Given the description of an element on the screen output the (x, y) to click on. 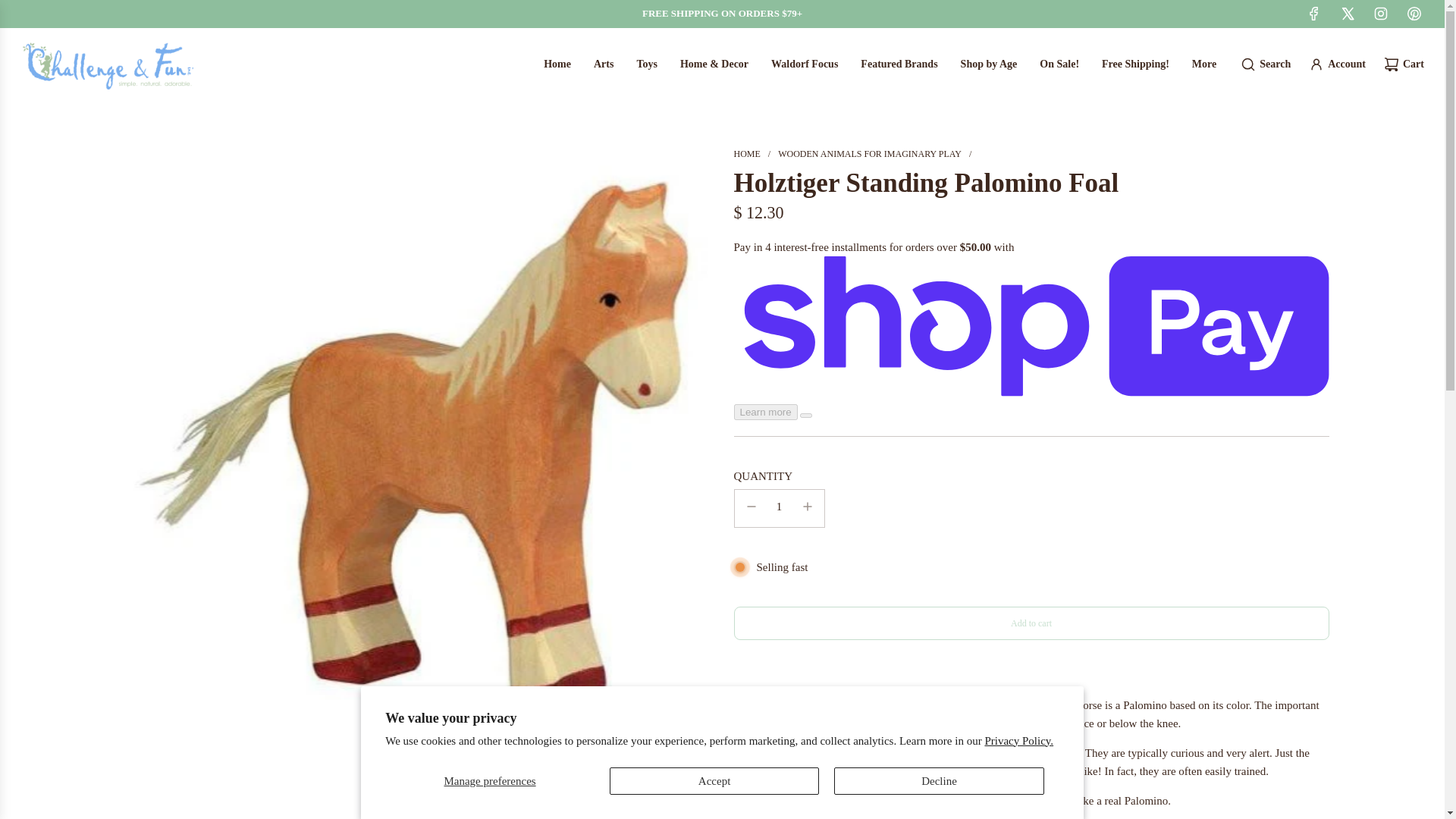
Privacy Policy. (1018, 739)
Wooden Animals for Imaginary Play (868, 153)
Accept (714, 780)
Back to the frontpage (746, 153)
Decline (938, 780)
Manage preferences (489, 780)
